Given the description of an element on the screen output the (x, y) to click on. 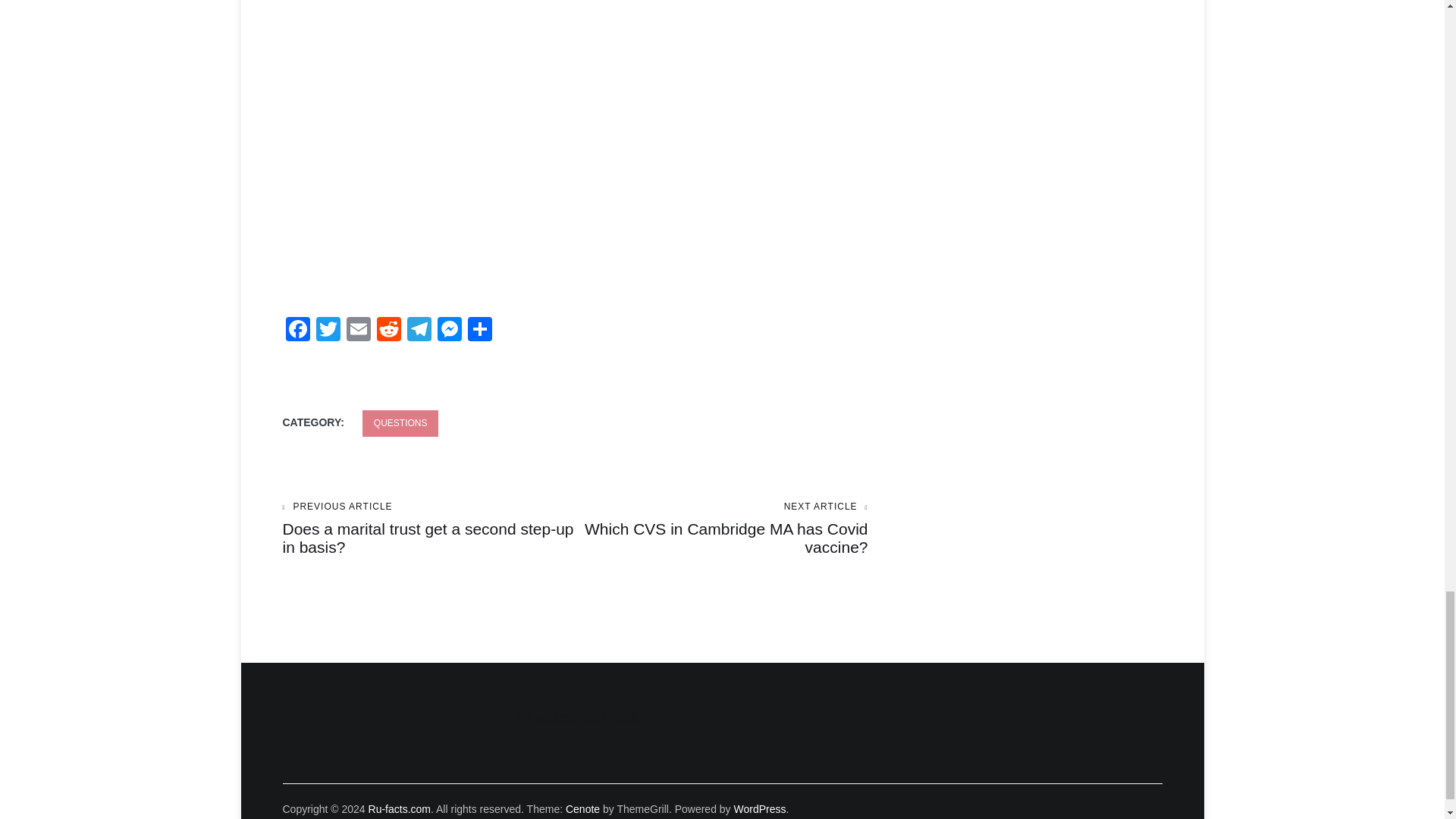
Ru-facts.com (399, 808)
Facebook (297, 330)
Facebook (297, 330)
Email (357, 330)
Reddit (721, 528)
Telegram (387, 330)
Twitter (418, 330)
Messenger (327, 330)
Telegram (448, 330)
QUESTIONS (418, 330)
Twitter (400, 423)
Reddit (327, 330)
Messenger (387, 330)
Email (448, 330)
